Given the description of an element on the screen output the (x, y) to click on. 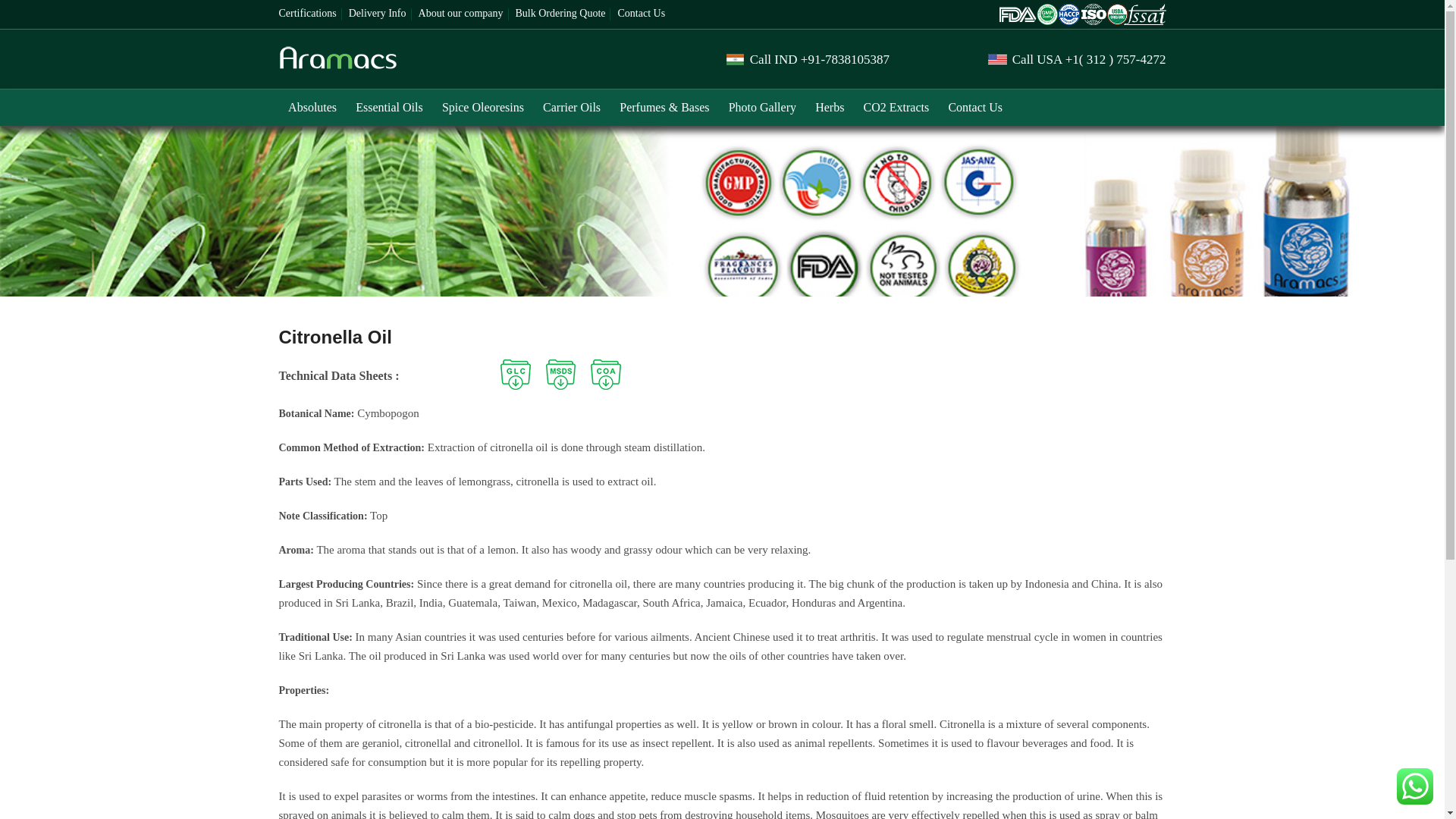
Essential Oils (389, 107)
Certifications (307, 13)
CO2 Extracts (896, 107)
About our company (461, 13)
Photo Gallery (762, 107)
Spice Oleoresins (482, 107)
Carrier Oils (571, 107)
Herbs (829, 107)
Aramacs Oils (338, 65)
Delivery Info (377, 13)
Contact Us (975, 107)
Bulk Ordering Quote (560, 13)
Contact Us (641, 13)
Absolutes (312, 107)
